Given the description of an element on the screen output the (x, y) to click on. 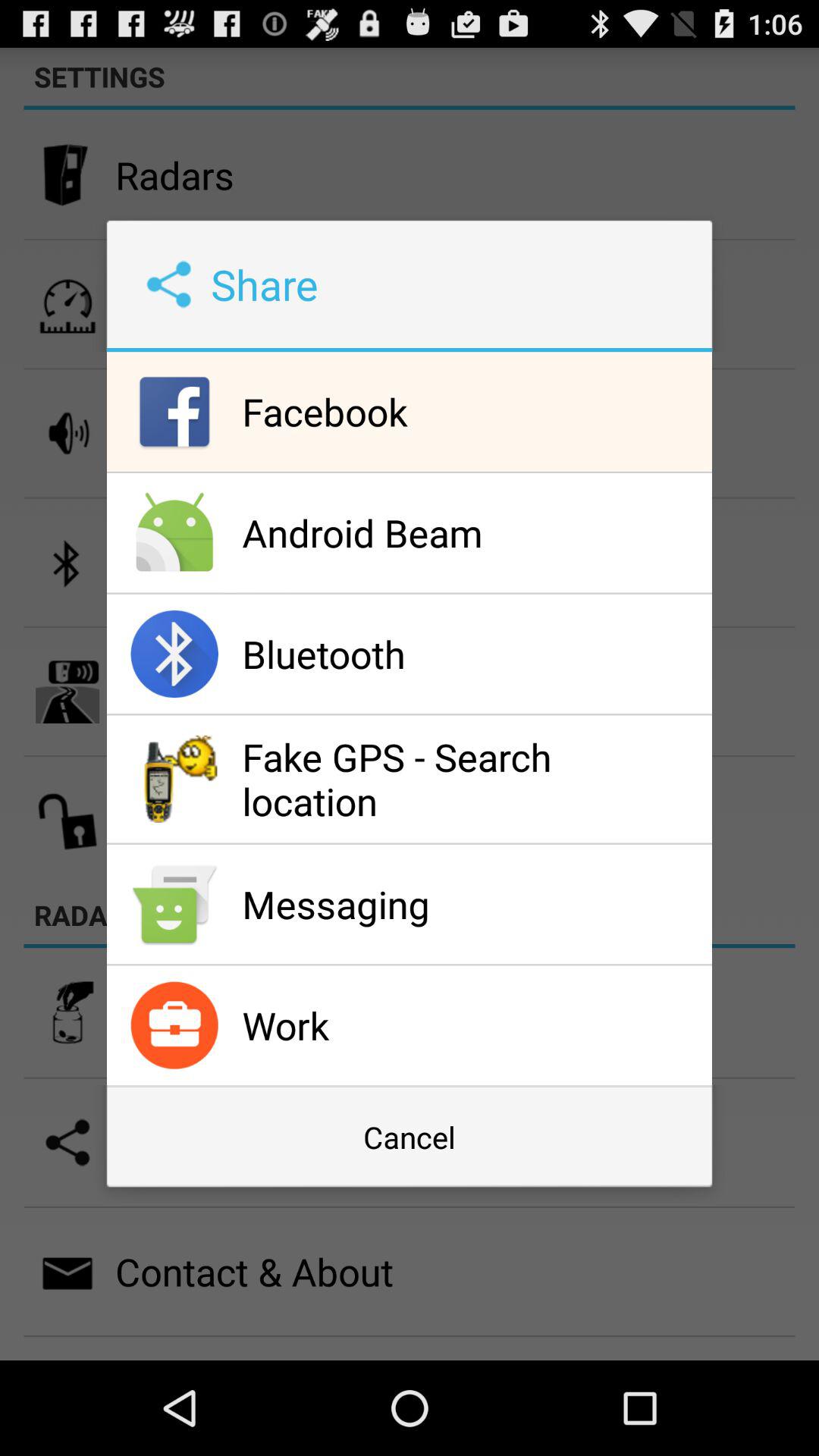
scroll to fake gps search app (473, 778)
